Given the description of an element on the screen output the (x, y) to click on. 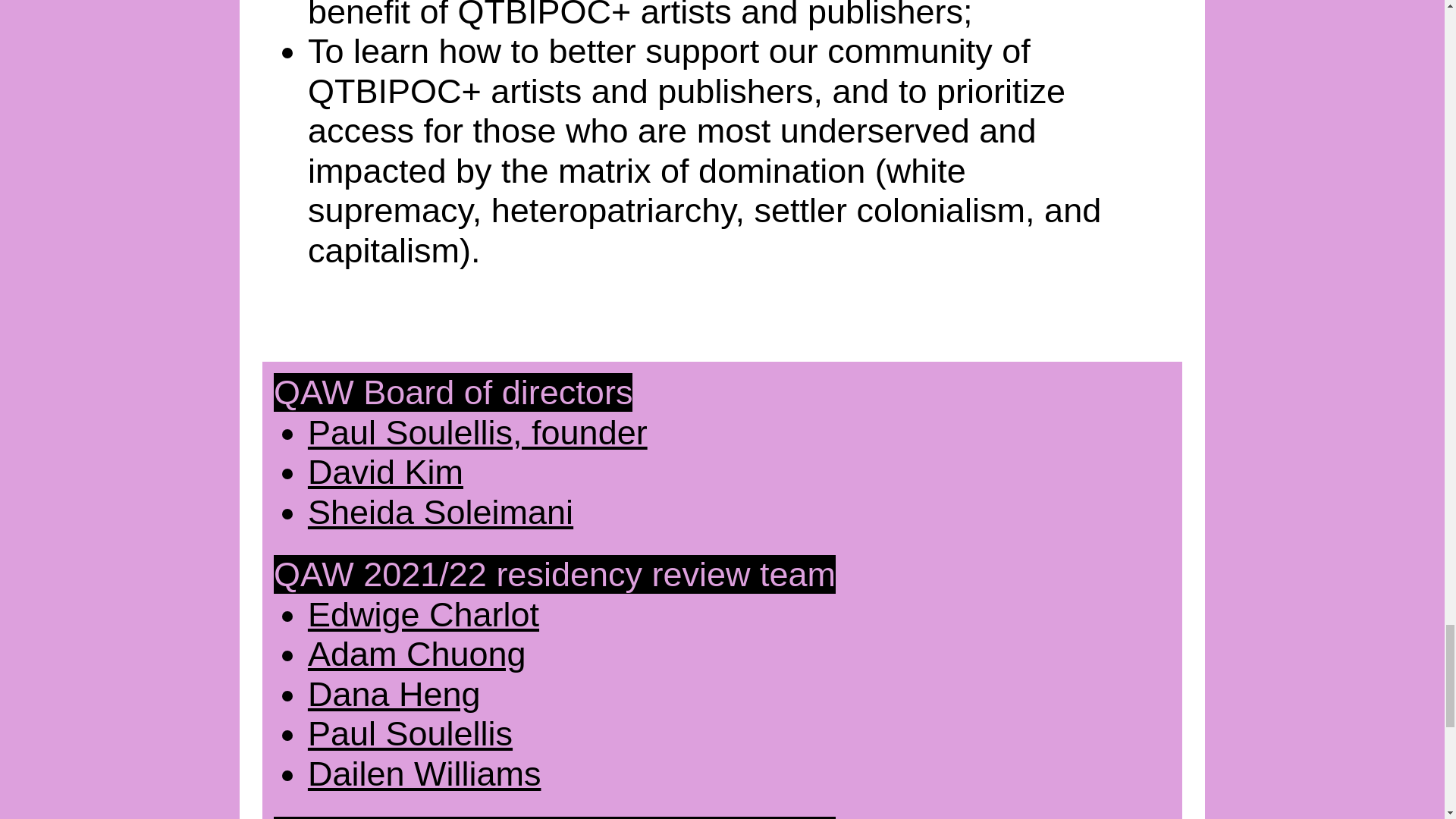
Adam Chuong (416, 653)
David Kim (385, 471)
Dailen Williams (424, 773)
Sheida Soleimani (440, 512)
Edwige Charlot (422, 614)
Paul Soulellis (409, 733)
Paul Soulellis, founder (477, 432)
Dana Heng (393, 693)
